Given the description of an element on the screen output the (x, y) to click on. 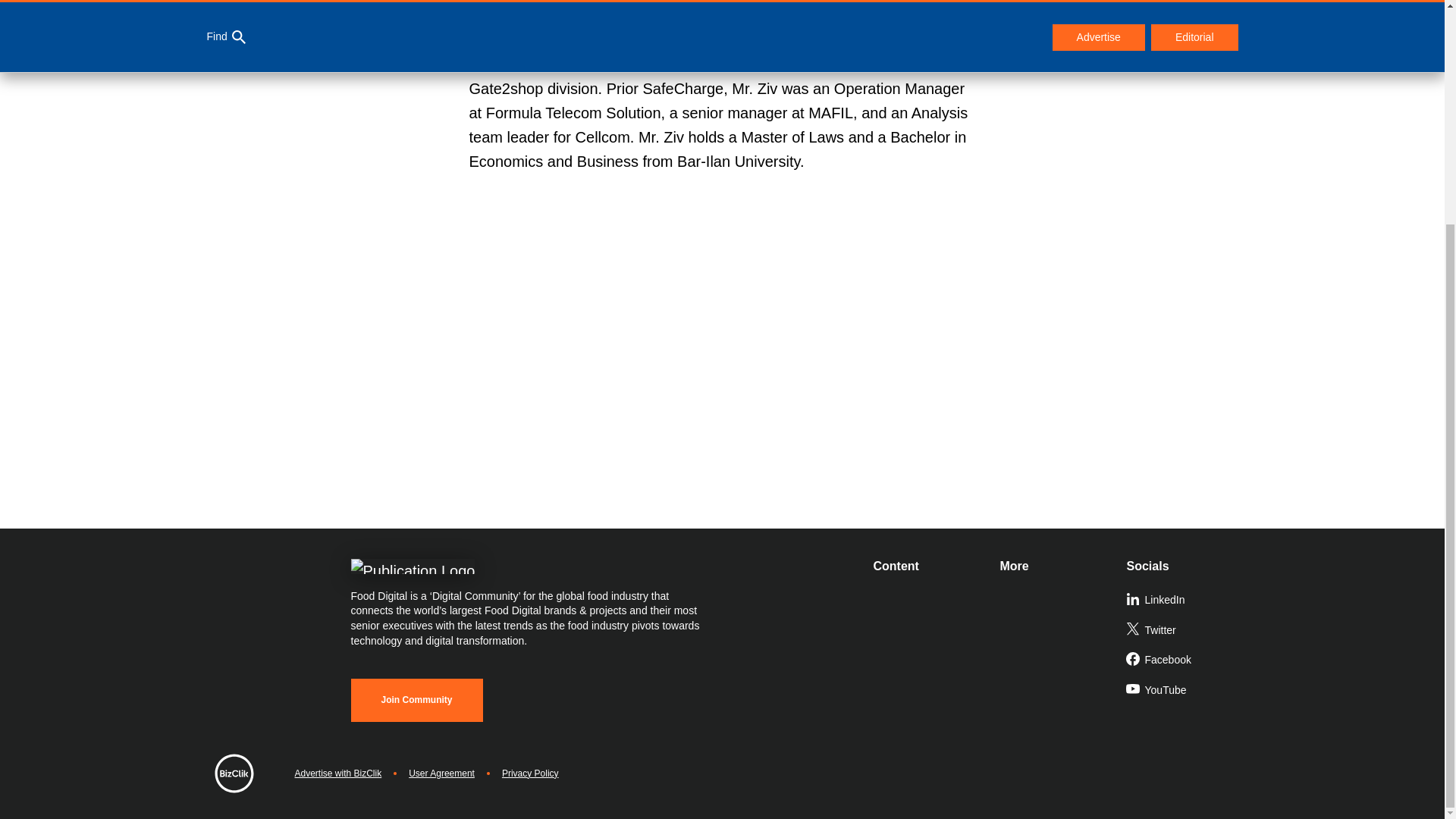
Twitter (1182, 630)
Facebook (1182, 660)
LinkedIn (1182, 600)
Join Community (415, 699)
User Agreement (441, 773)
Advertise with BizClik (337, 773)
Privacy Policy (530, 773)
YouTube (1182, 690)
